Given the description of an element on the screen output the (x, y) to click on. 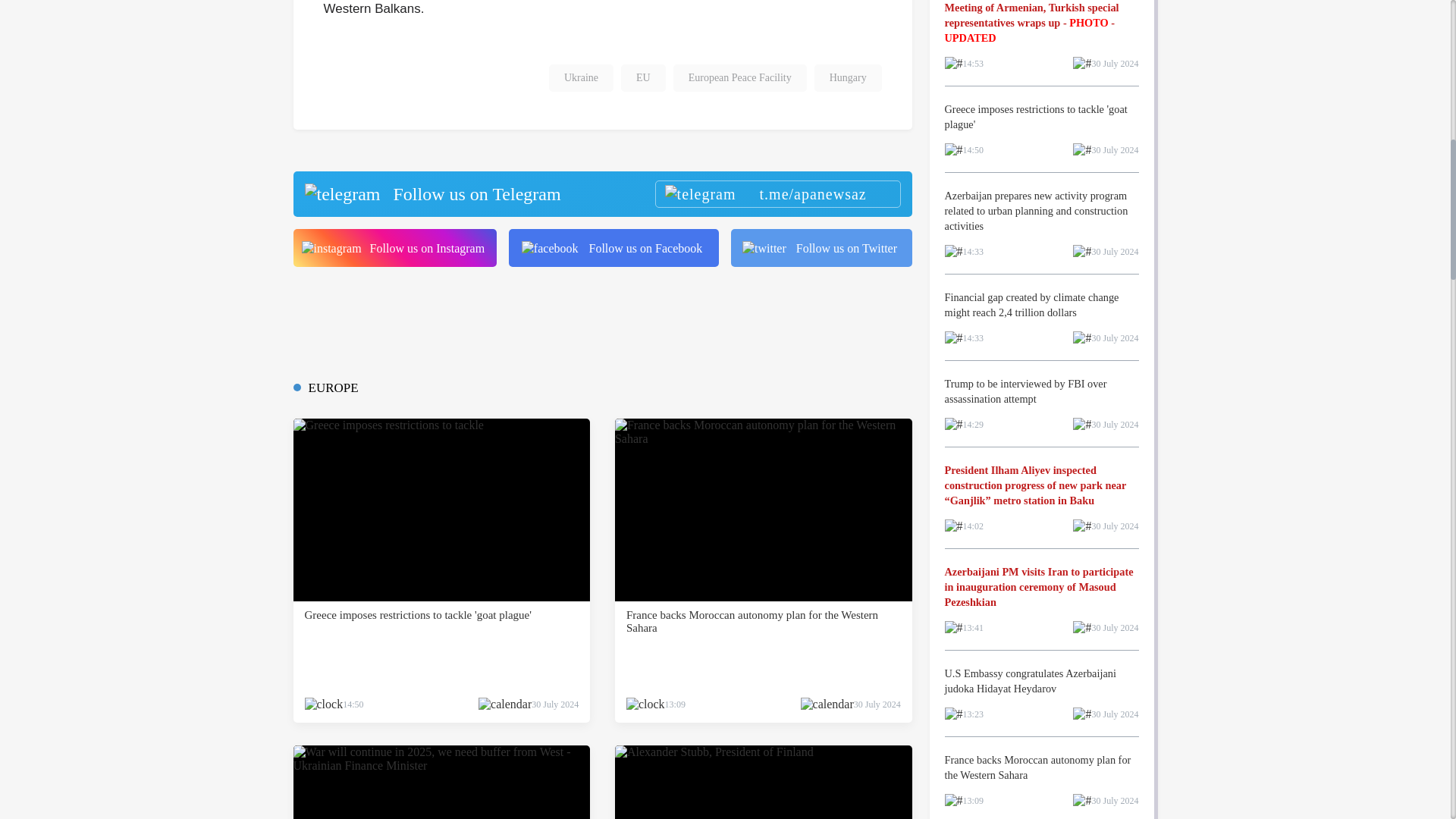
Follow us on Twitter (821, 247)
Follow us on Telegram (601, 194)
Follow us on Instagram (394, 247)
Follow us on Facebook (613, 247)
